Given the description of an element on the screen output the (x, y) to click on. 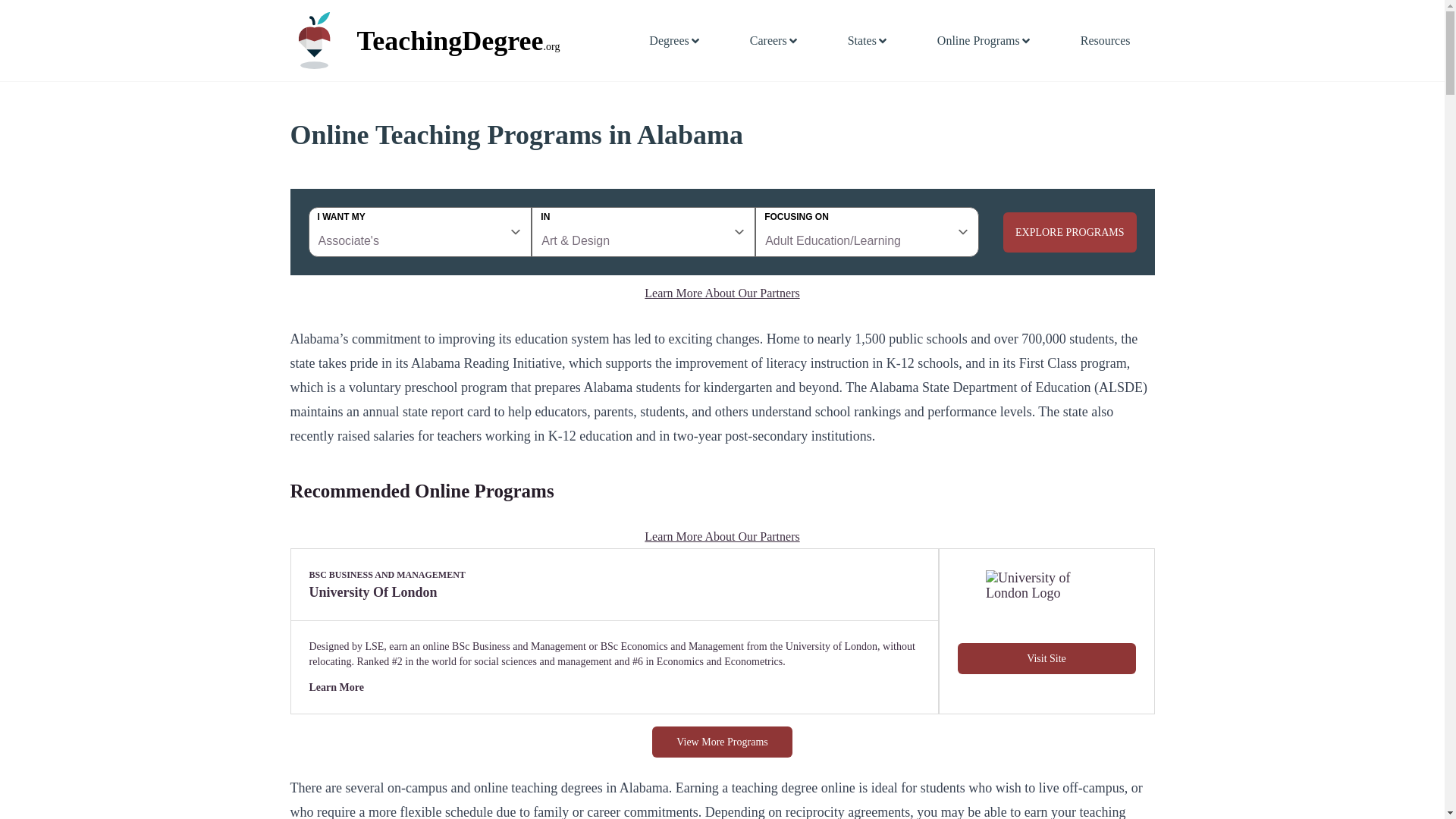
Degrees (675, 40)
TeachingDegree.org (485, 39)
Careers (774, 40)
States (868, 40)
